Given the description of an element on the screen output the (x, y) to click on. 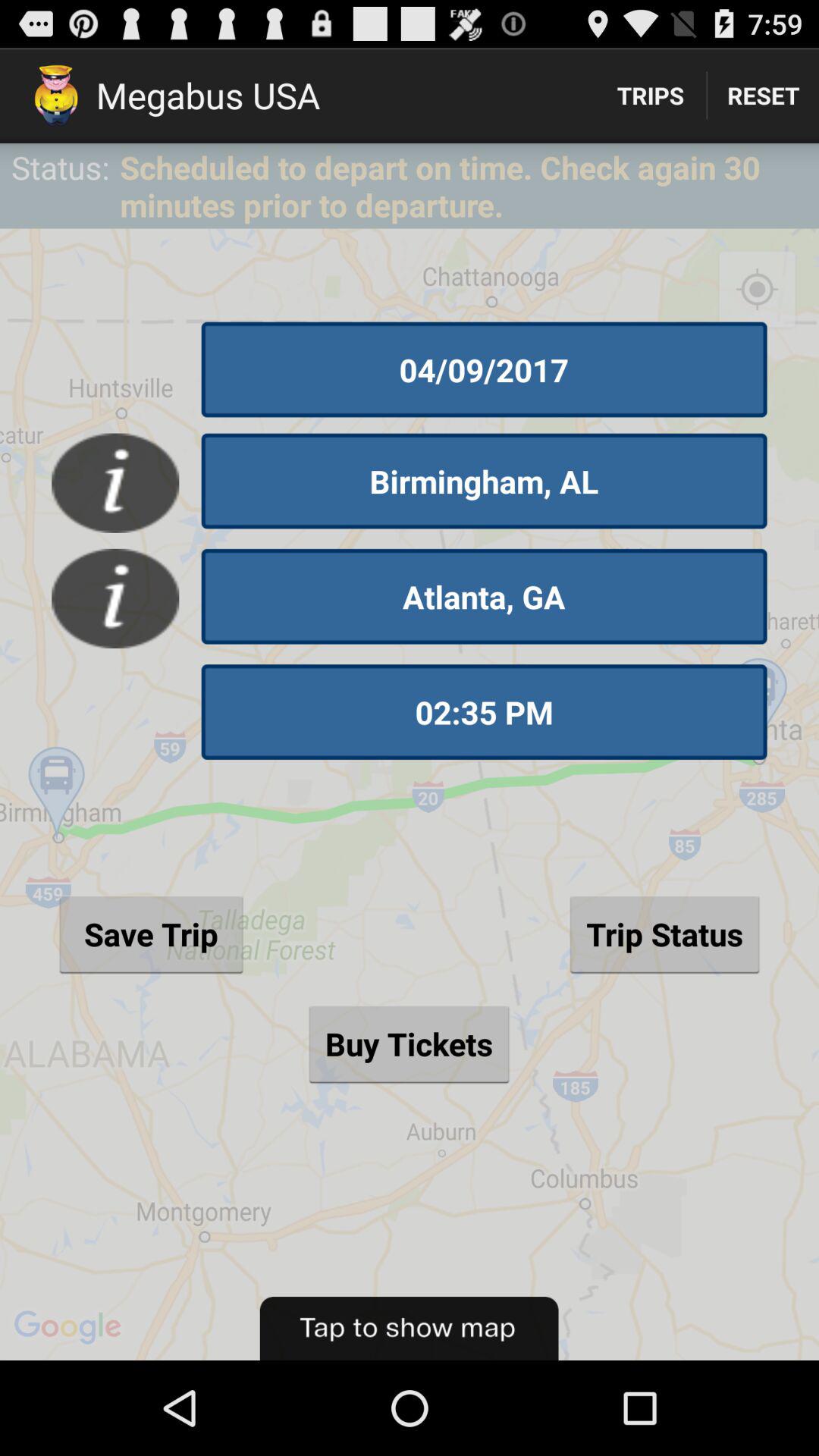
tap the item above 02:35 pm (484, 596)
